Given the description of an element on the screen output the (x, y) to click on. 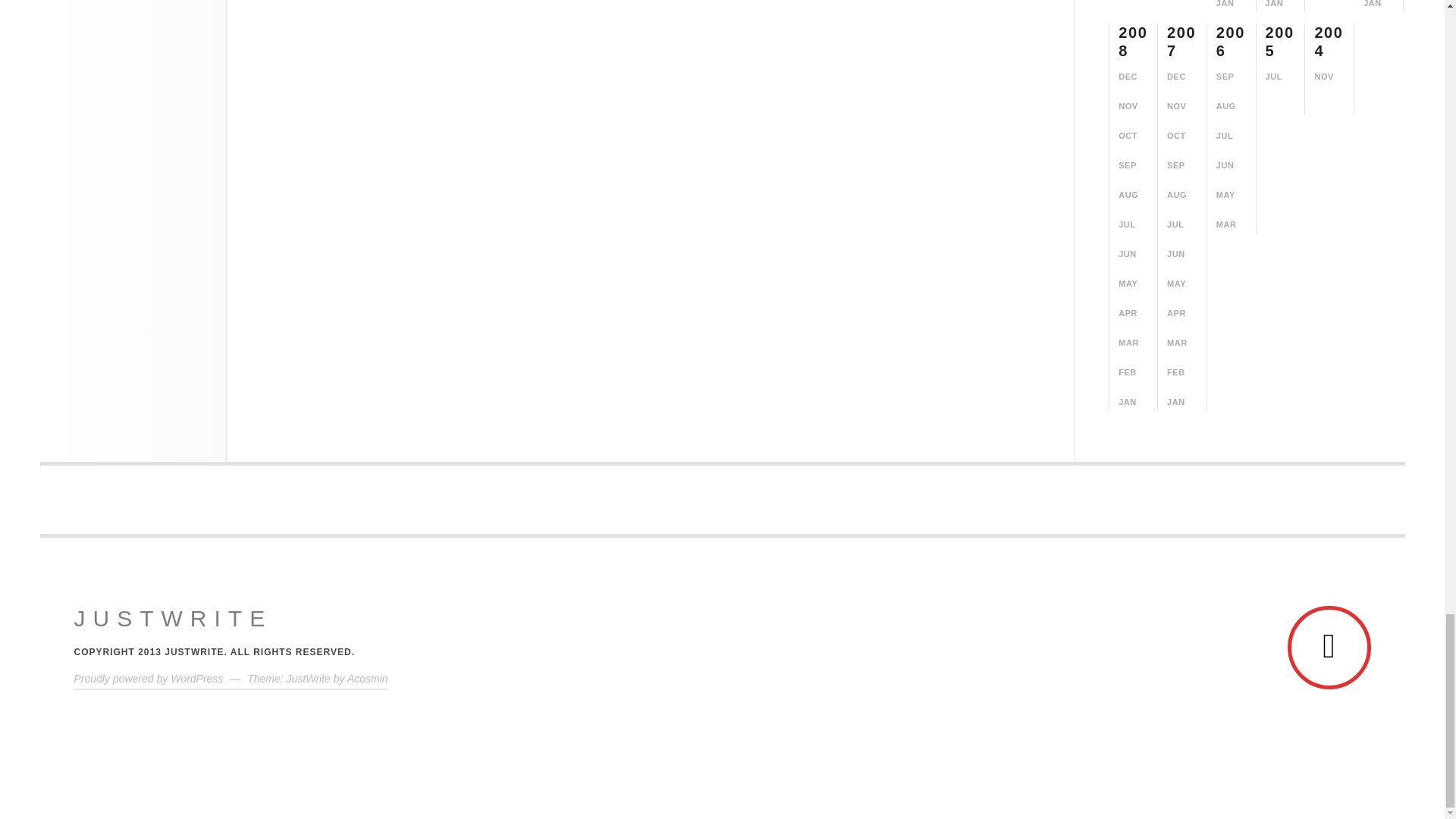
The Angry Black Woman (173, 618)
Acosmin (367, 678)
